Given the description of an element on the screen output the (x, y) to click on. 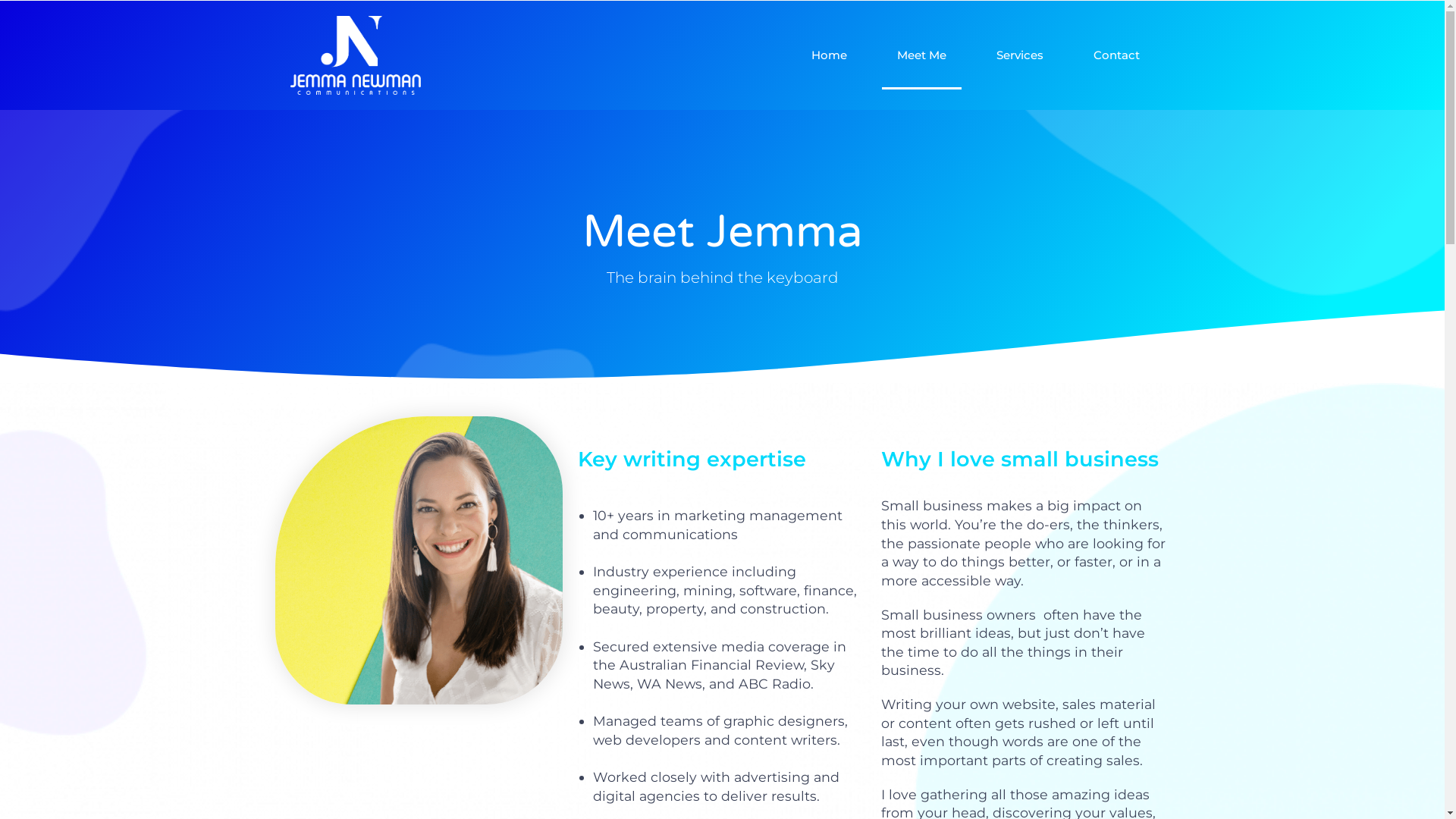
Home Element type: text (829, 55)
Services Element type: text (1019, 55)
Meet Me Element type: text (920, 55)
Contact Element type: text (1116, 55)
Skip to content Element type: text (15, 31)
